Given the description of an element on the screen output the (x, y) to click on. 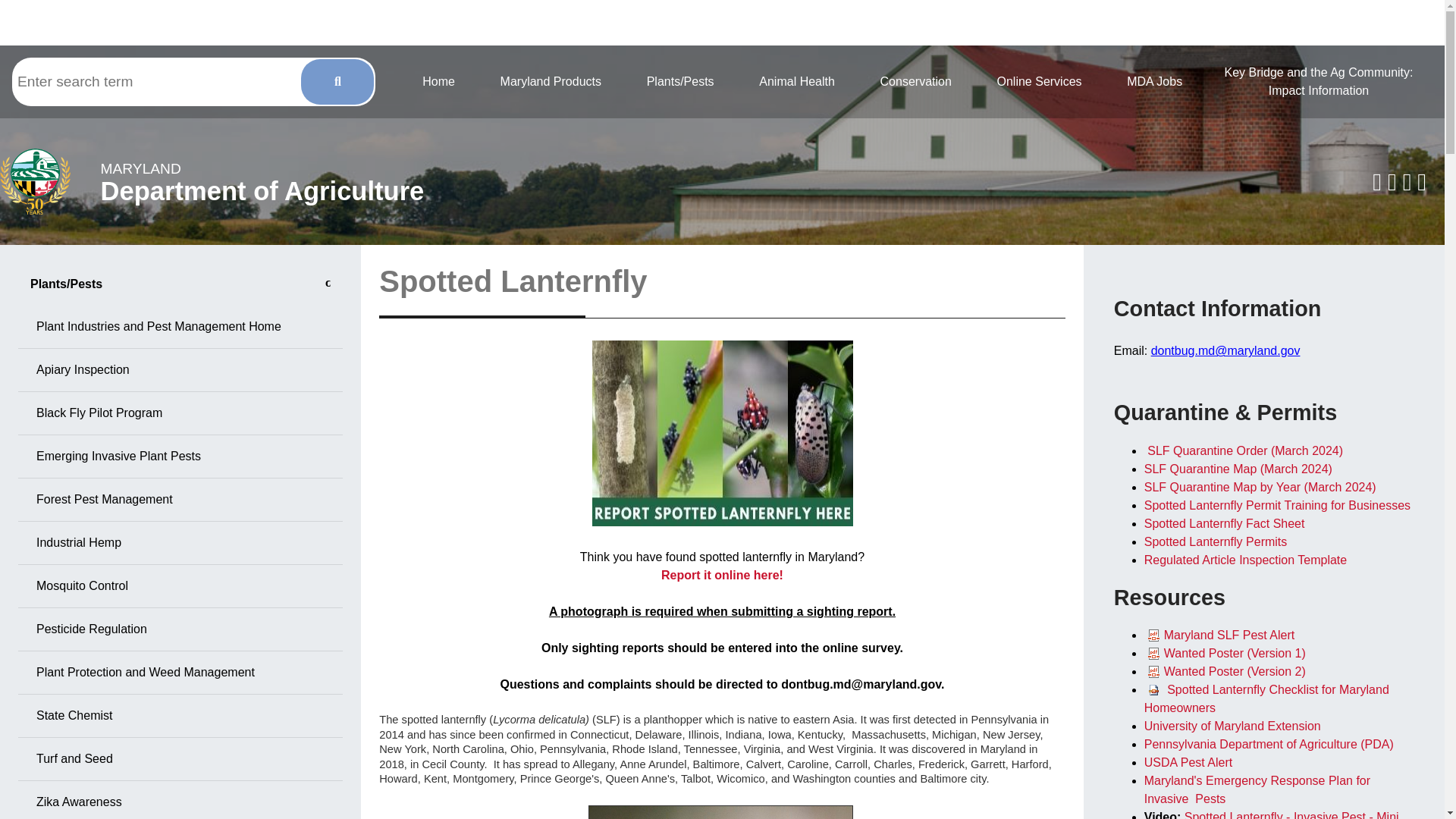
Emerging Invasive Plant Pests (179, 456)
Black Fly Pilot Program (179, 413)
Search (262, 181)
Key Bridge and the Ag Community: Impact Information (337, 81)
Home (1318, 81)
Skip to Content (437, 81)
Mosquito Control (11, 56)
State Chemist (179, 586)
Industrial Hemp (179, 715)
Conservation (179, 543)
Online Services (915, 81)
Plant Industries and Pest Management Home (1039, 81)
Maryland Products (179, 326)
Apiary Inspection (550, 81)
